Given the description of an element on the screen output the (x, y) to click on. 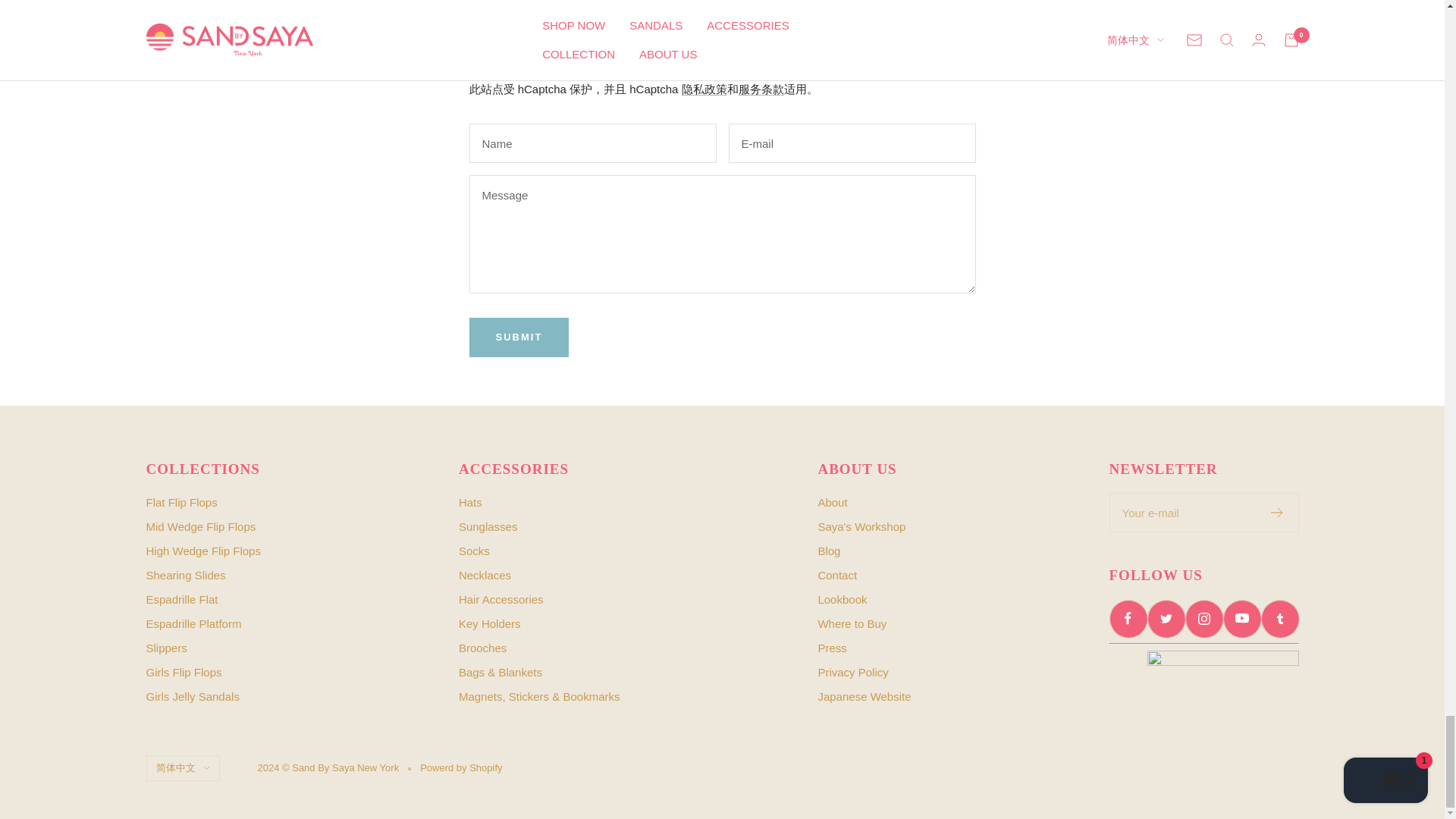
Register (1277, 511)
